Given the description of an element on the screen output the (x, y) to click on. 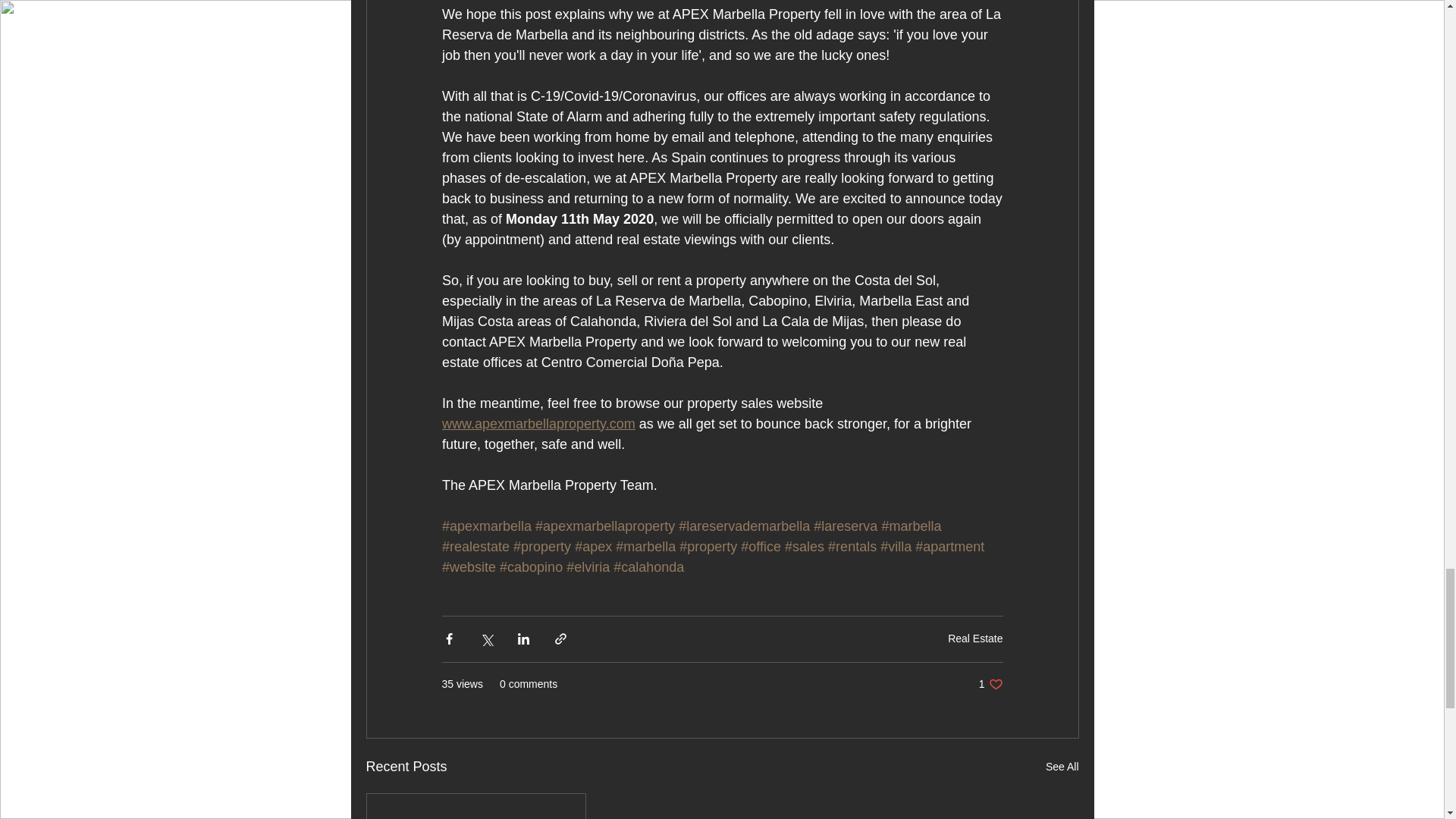
Real Estate (975, 638)
www.apexmarbellaproperty.com (537, 423)
See All (990, 684)
